Given the description of an element on the screen output the (x, y) to click on. 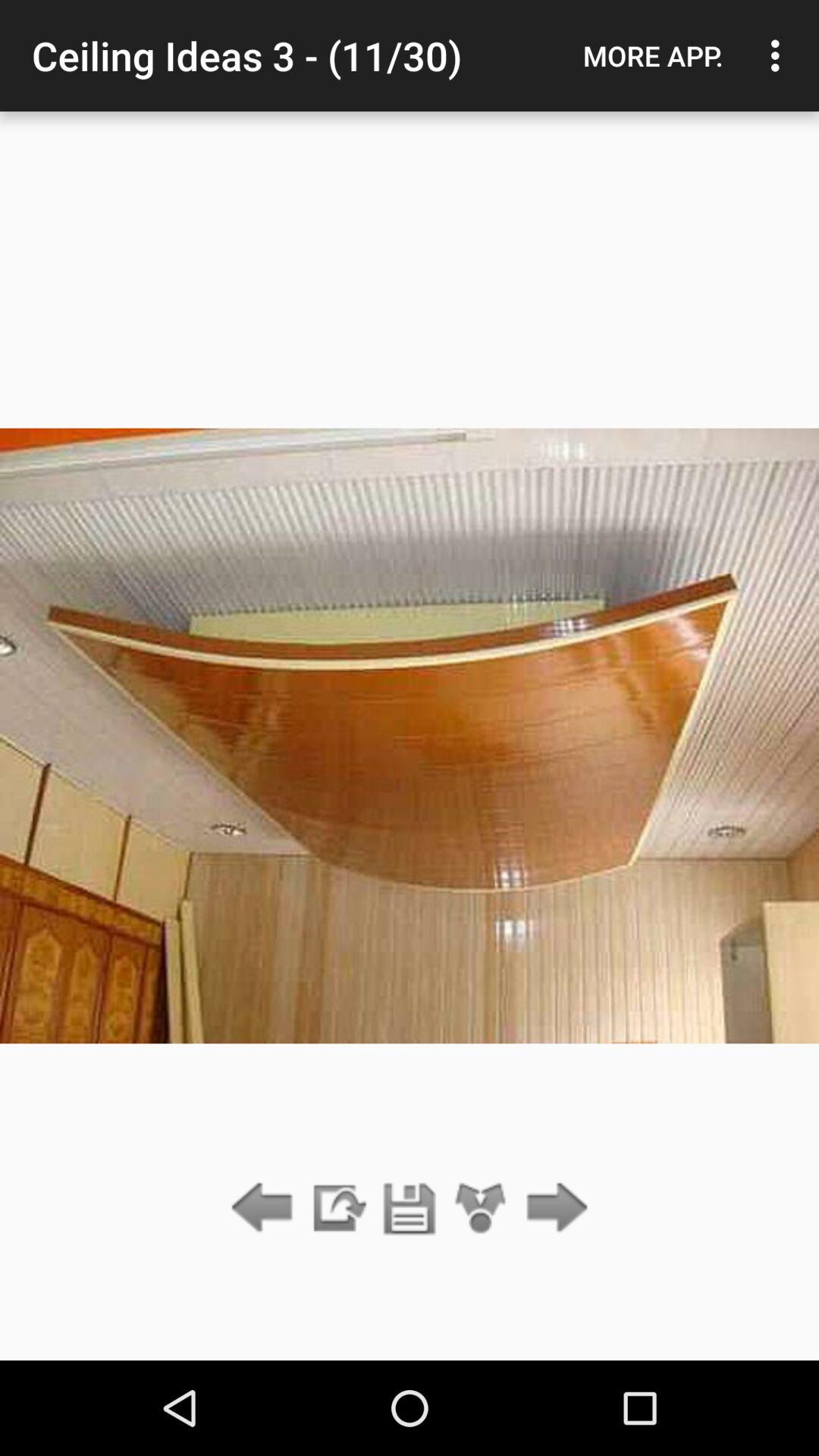
because back devicer (552, 1209)
